Given the description of an element on the screen output the (x, y) to click on. 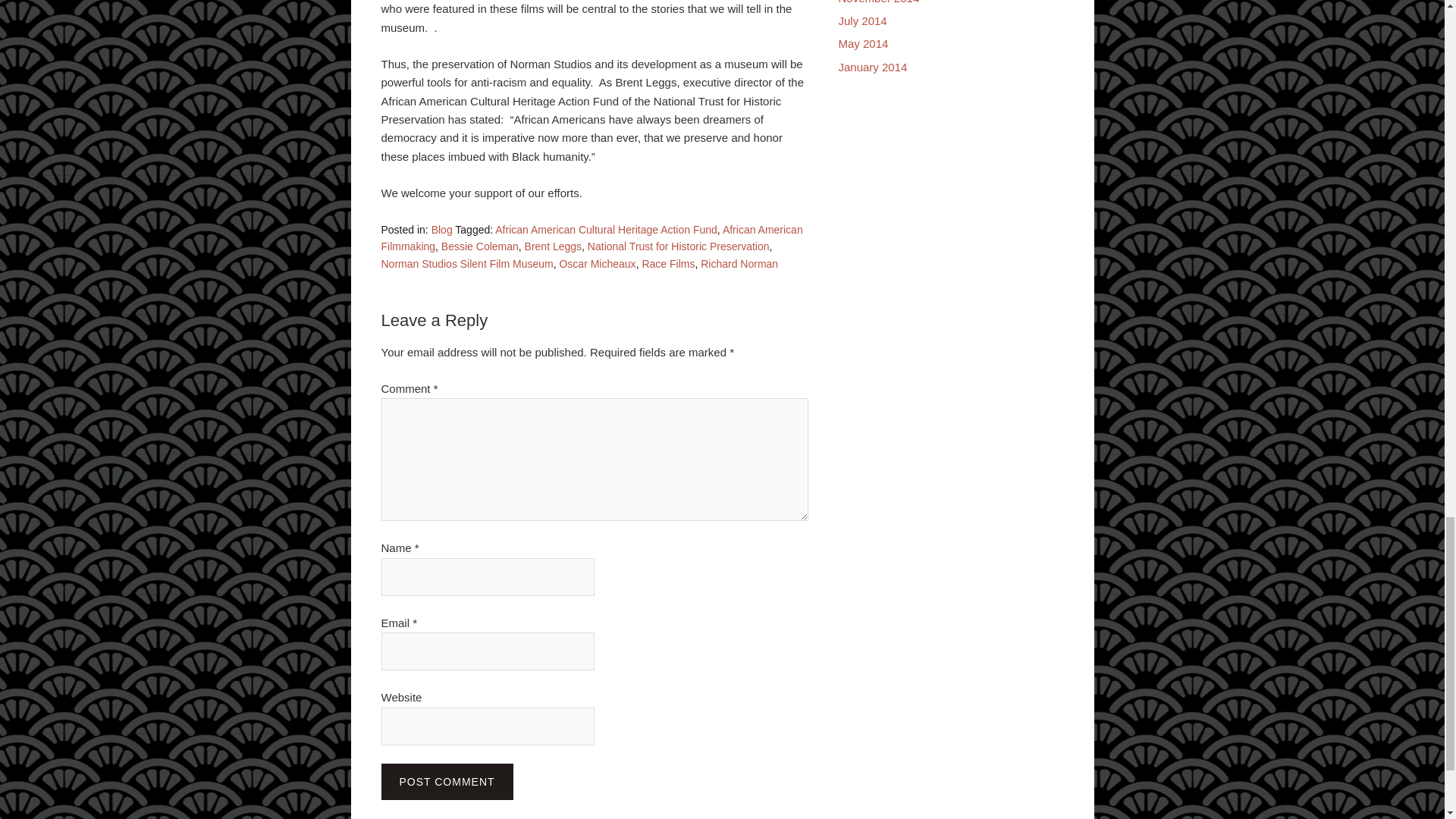
Post Comment (446, 780)
